Given the description of an element on the screen output the (x, y) to click on. 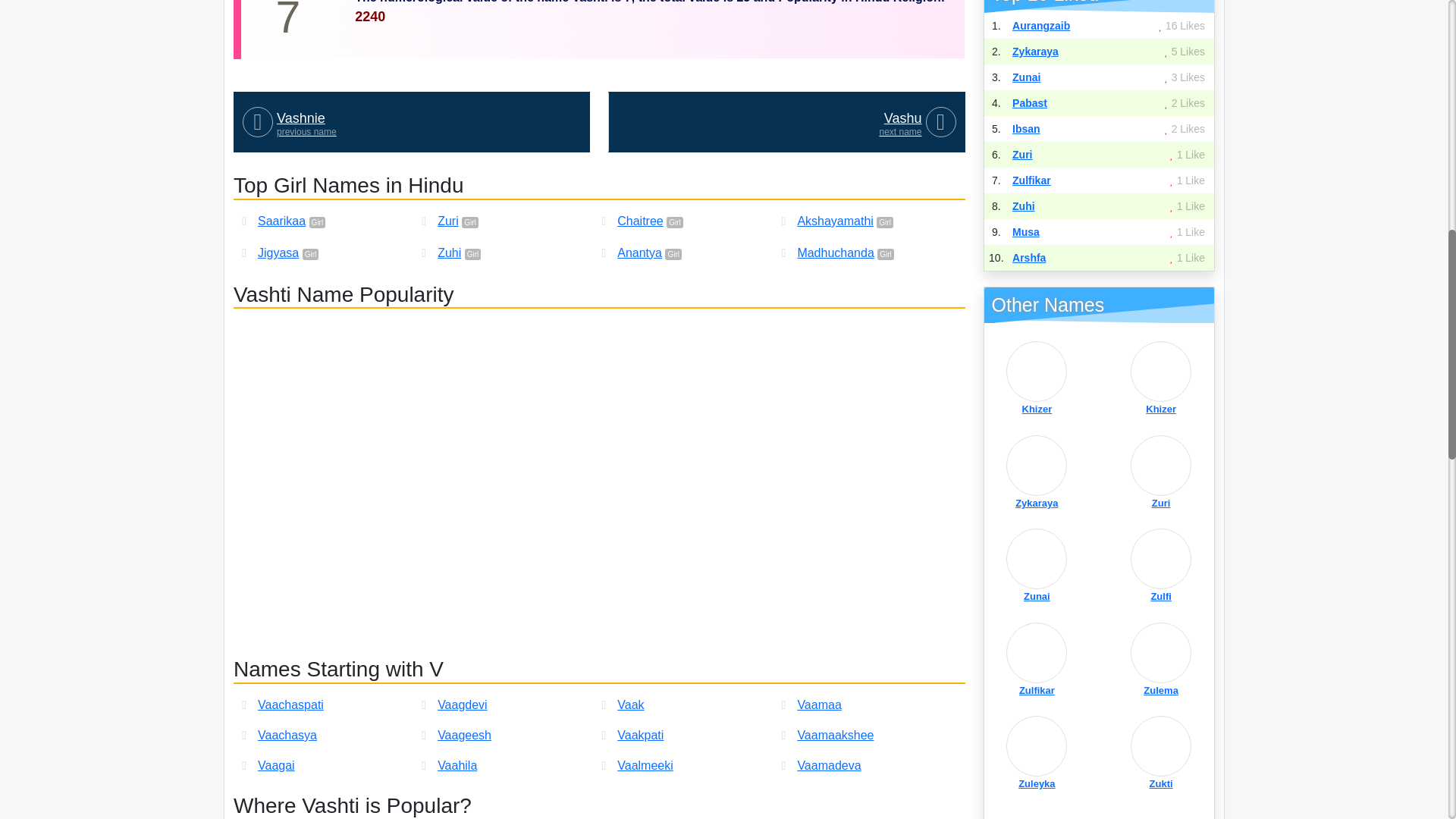
Vashu (785, 121)
trends-widget-1 (410, 121)
